Given the description of an element on the screen output the (x, y) to click on. 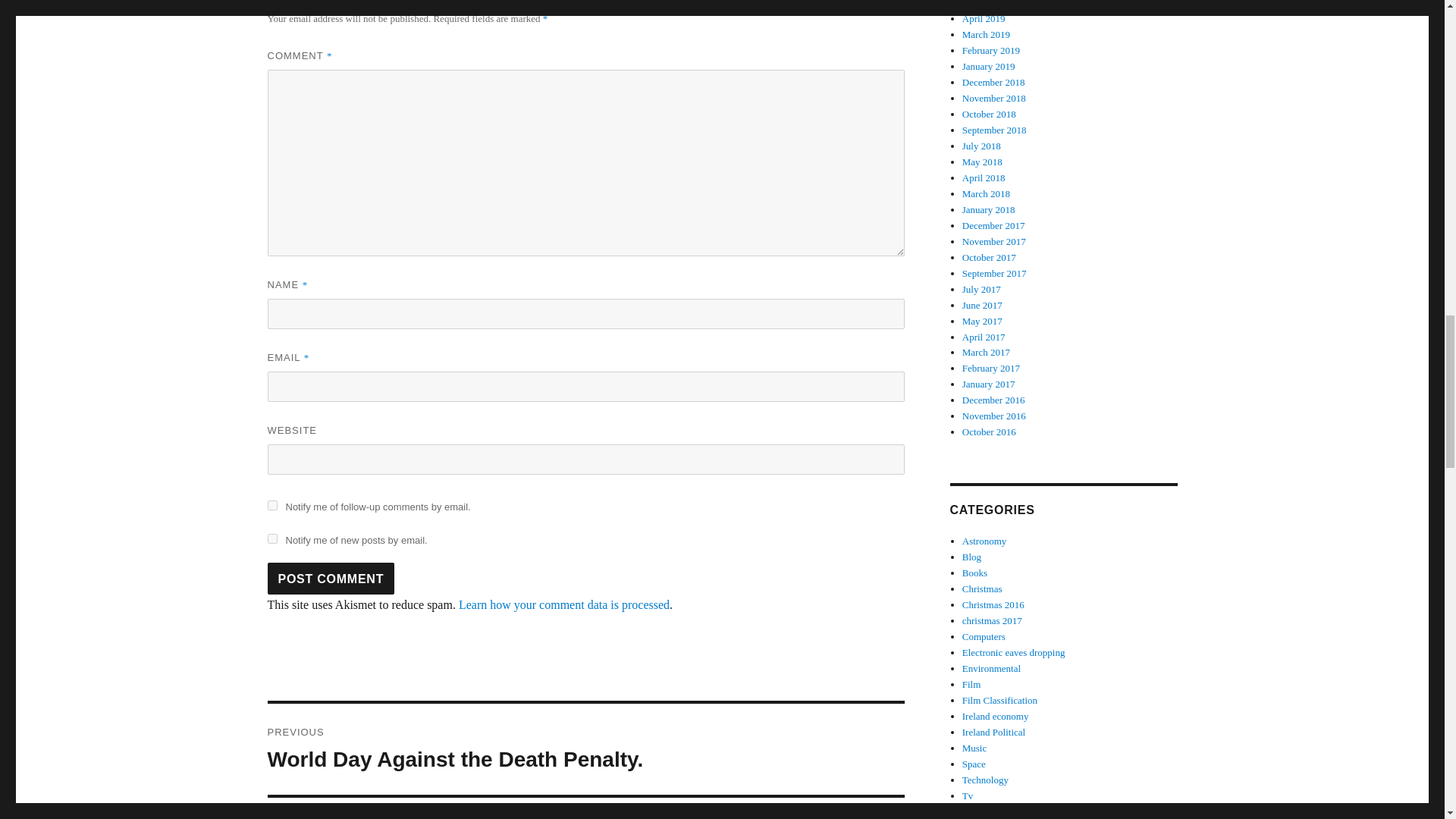
subscribe (271, 505)
Learn how your comment data is processed (563, 604)
Post Comment (585, 748)
subscribe (330, 578)
Post Comment (271, 538)
